Given the description of an element on the screen output the (x, y) to click on. 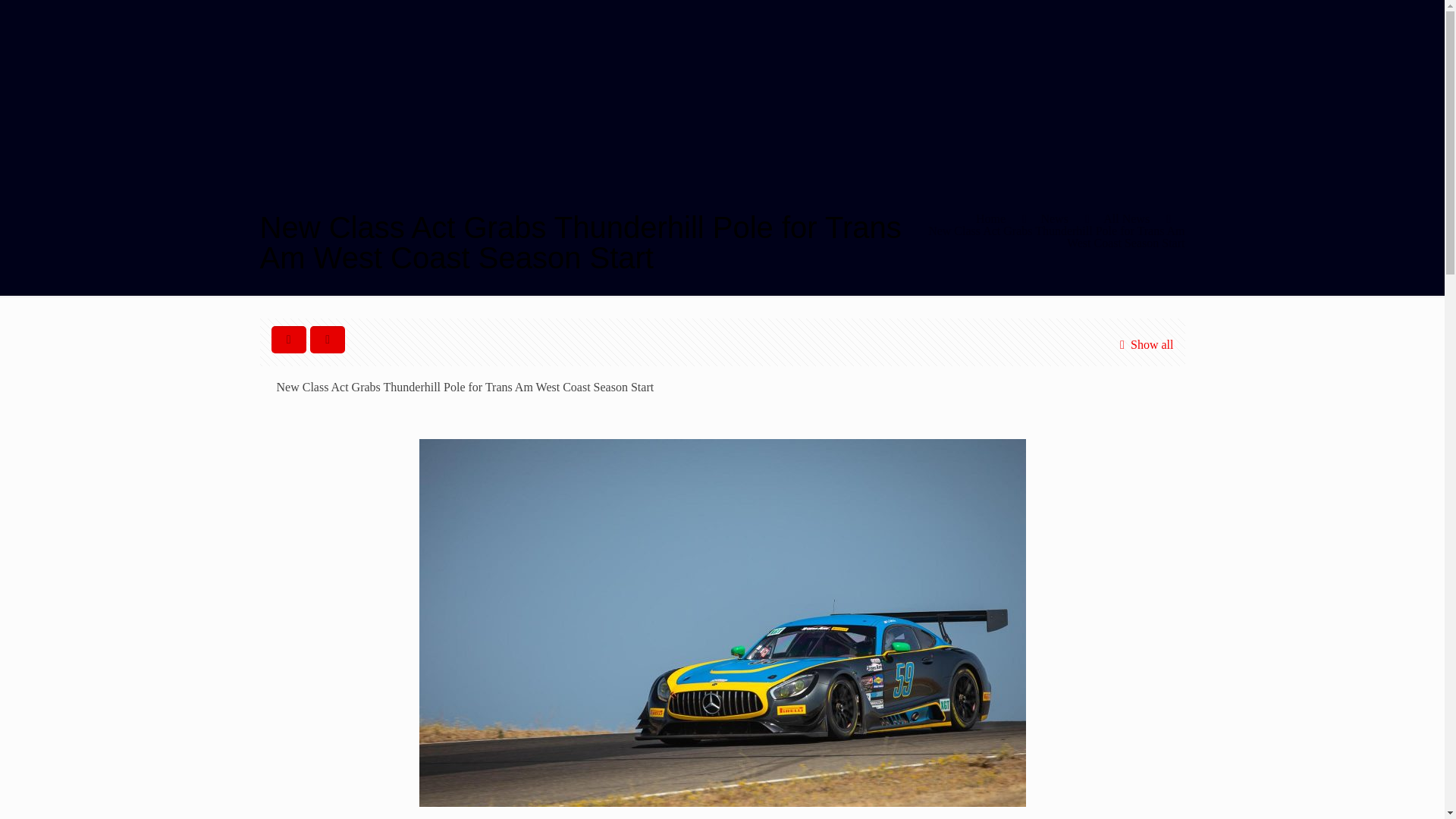
All News (1126, 218)
Show all (1143, 344)
News (1054, 218)
Home (990, 218)
